Given the description of an element on the screen output the (x, y) to click on. 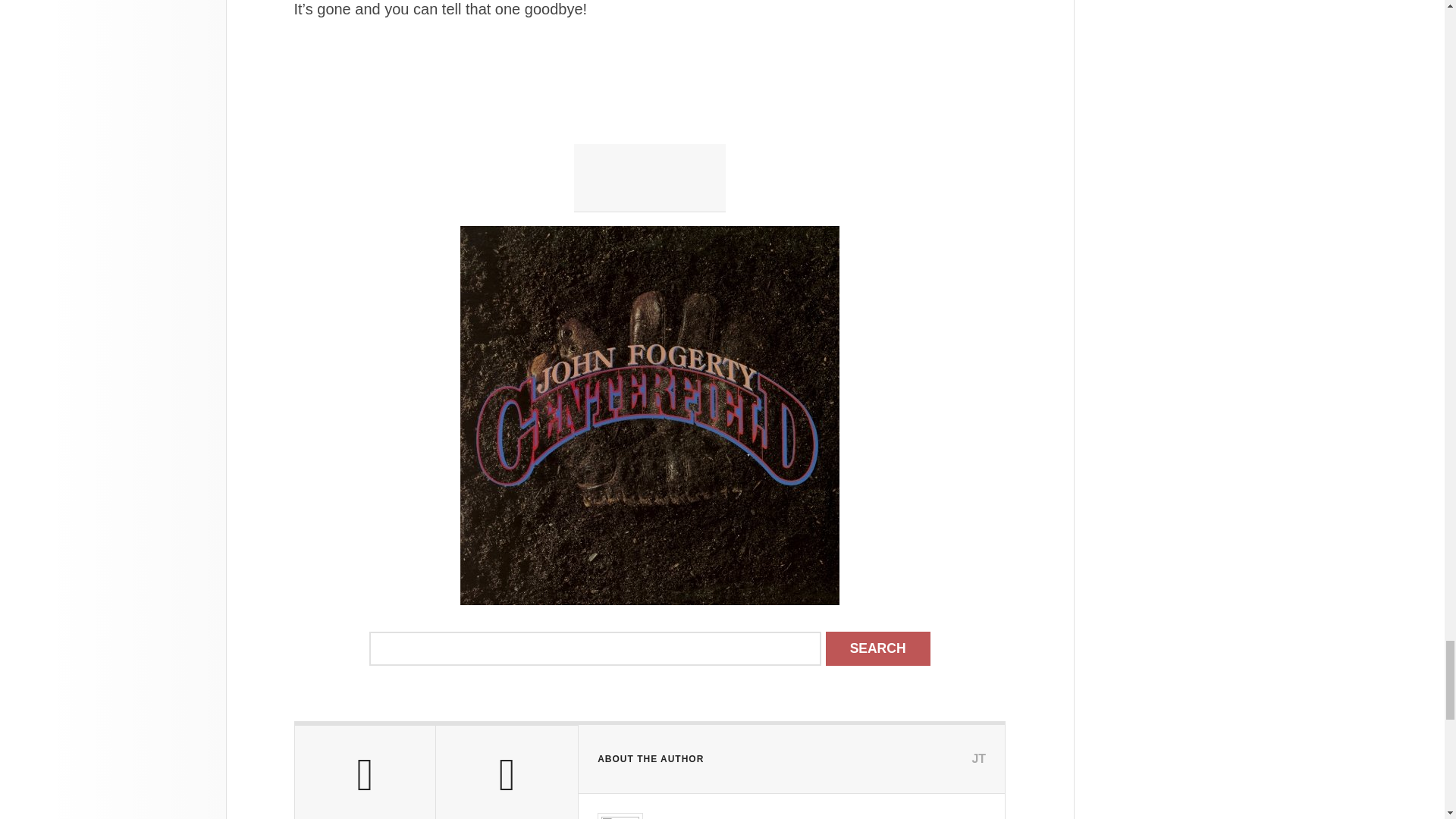
Search (877, 648)
Search (877, 648)
